Given the description of an element on the screen output the (x, y) to click on. 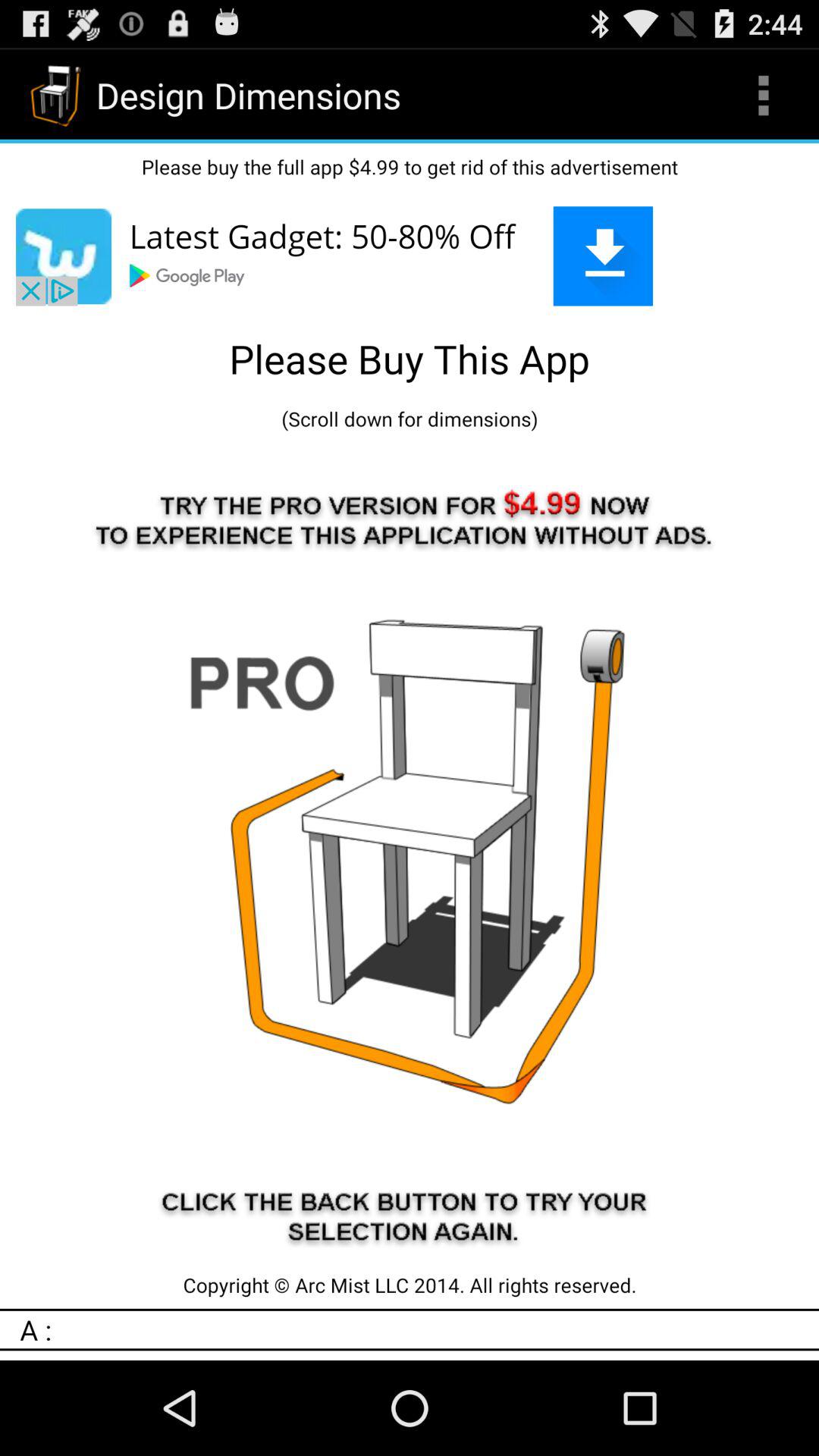
select the app above the copyright arc mist icon (409, 851)
